Given the description of an element on the screen output the (x, y) to click on. 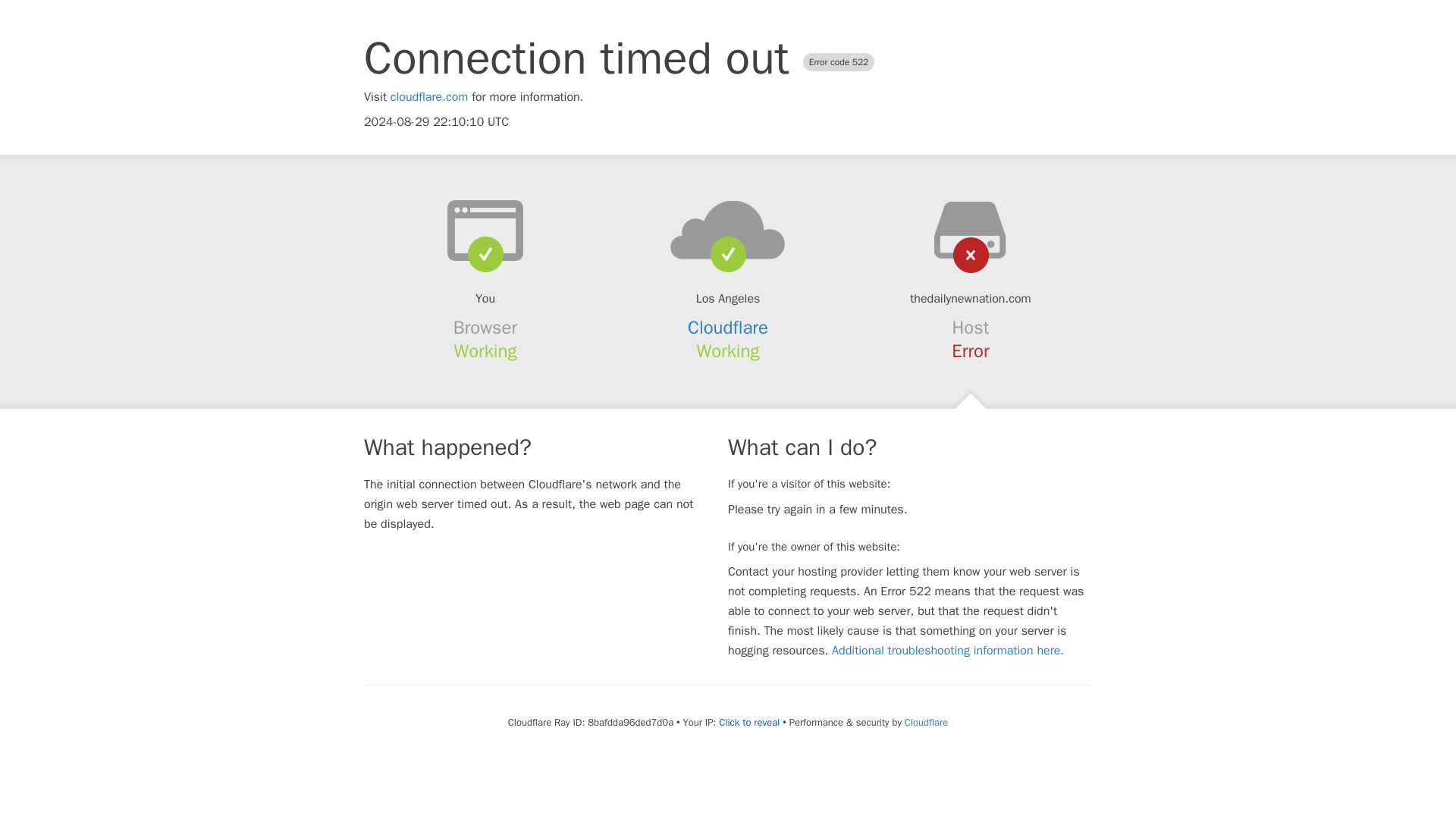
Cloudflare (727, 327)
cloudflare.com (429, 96)
Click to reveal (748, 722)
Additional troubleshooting information here. (947, 650)
Cloudflare (925, 721)
